Given the description of an element on the screen output the (x, y) to click on. 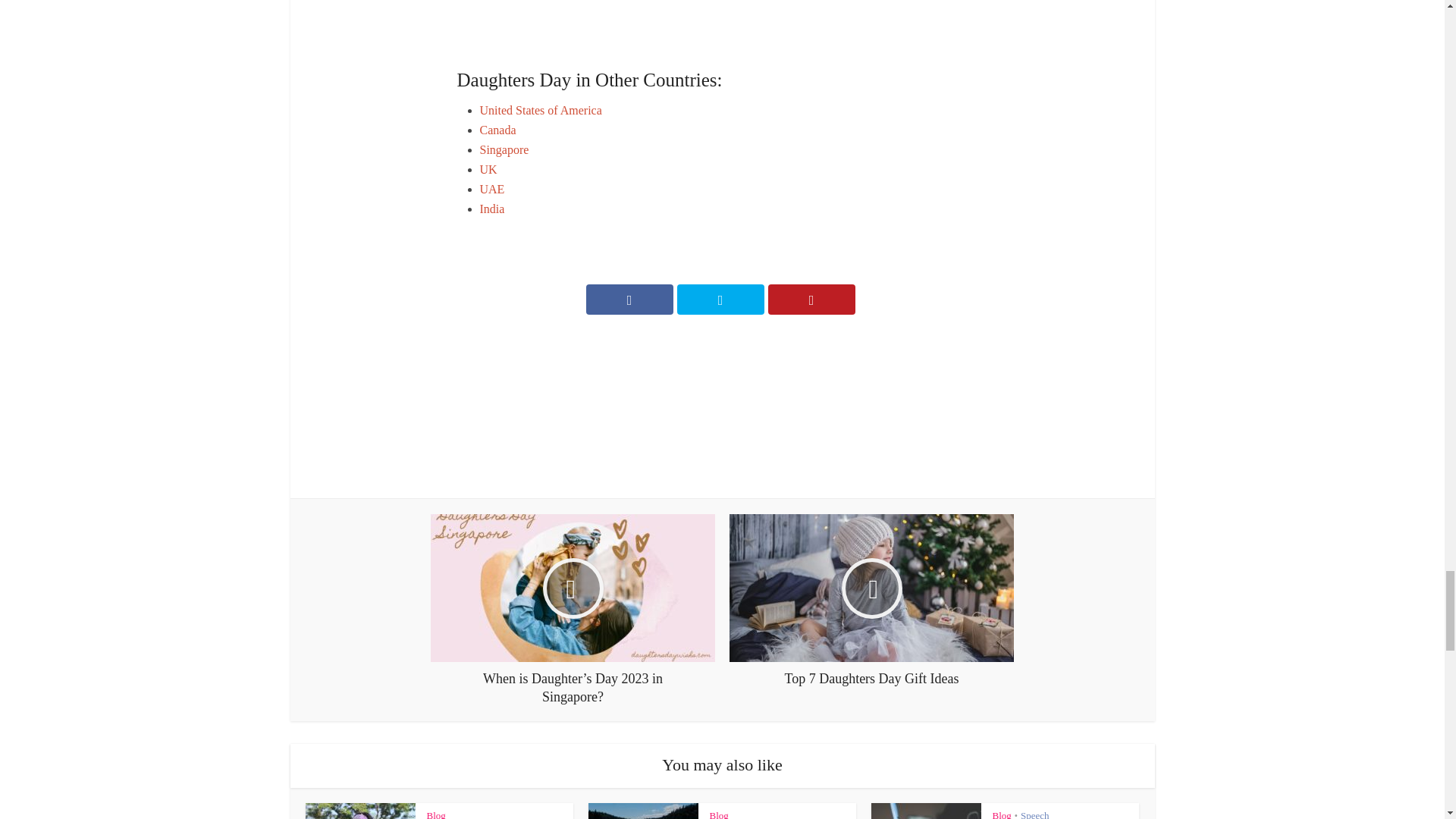
Top 7 Daughters Day Gift Ideas (871, 600)
United States of America (540, 110)
UAE (491, 188)
UK (487, 169)
Singapore (503, 149)
Canada (497, 129)
Blog (435, 814)
India (491, 208)
